Given the description of an element on the screen output the (x, y) to click on. 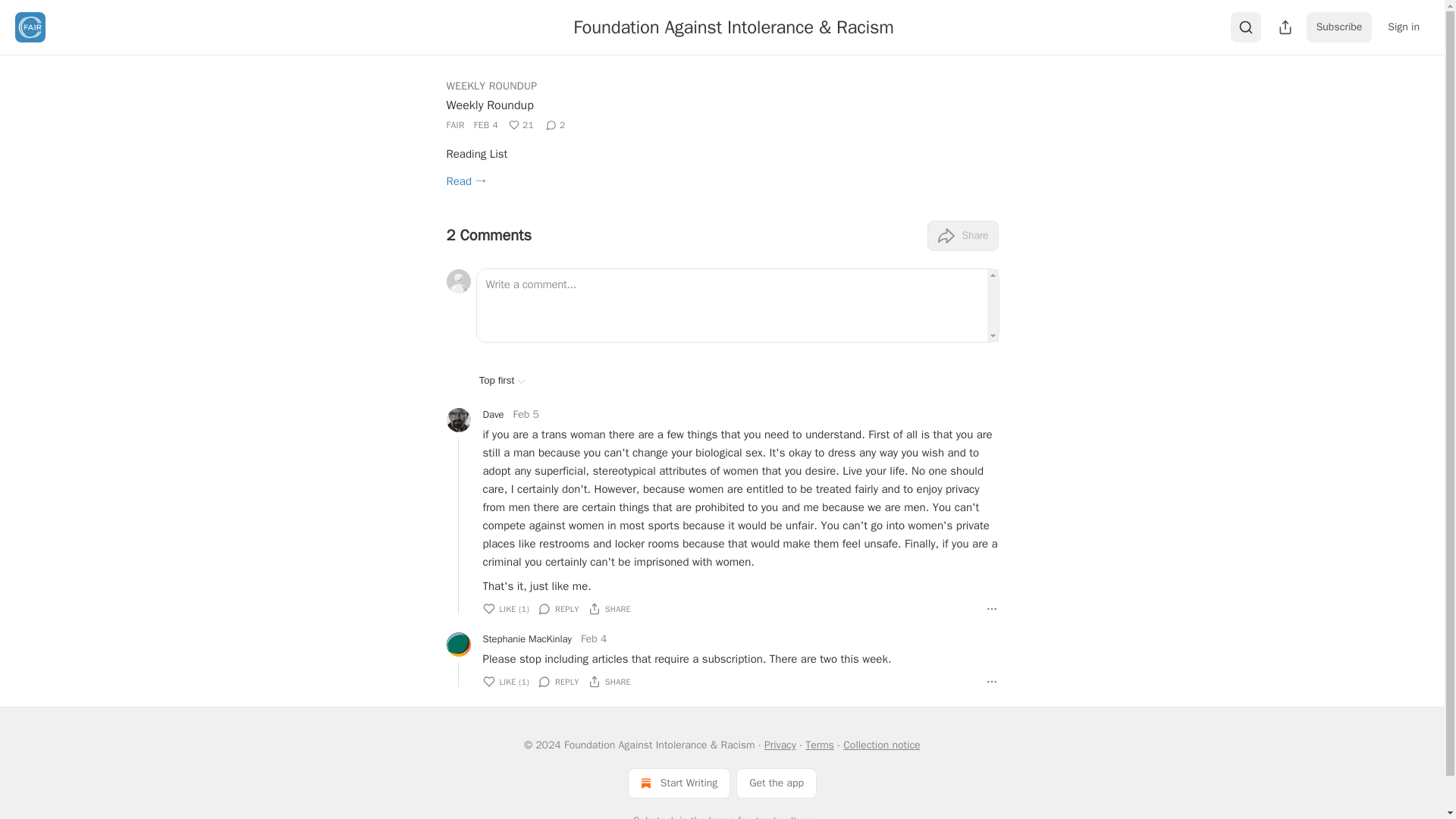
Share (962, 235)
Sign in (1403, 27)
Subscribe (1339, 27)
Feb 4 (593, 639)
Stephanie MacKinlay (525, 639)
REPLY (558, 681)
FAIR (454, 124)
Dave (492, 414)
SHARE (609, 608)
WEEKLY ROUNDUP (491, 86)
21 (520, 125)
Feb 5 (525, 414)
2 (555, 125)
REPLY (558, 608)
Top first (502, 379)
